Given the description of an element on the screen output the (x, y) to click on. 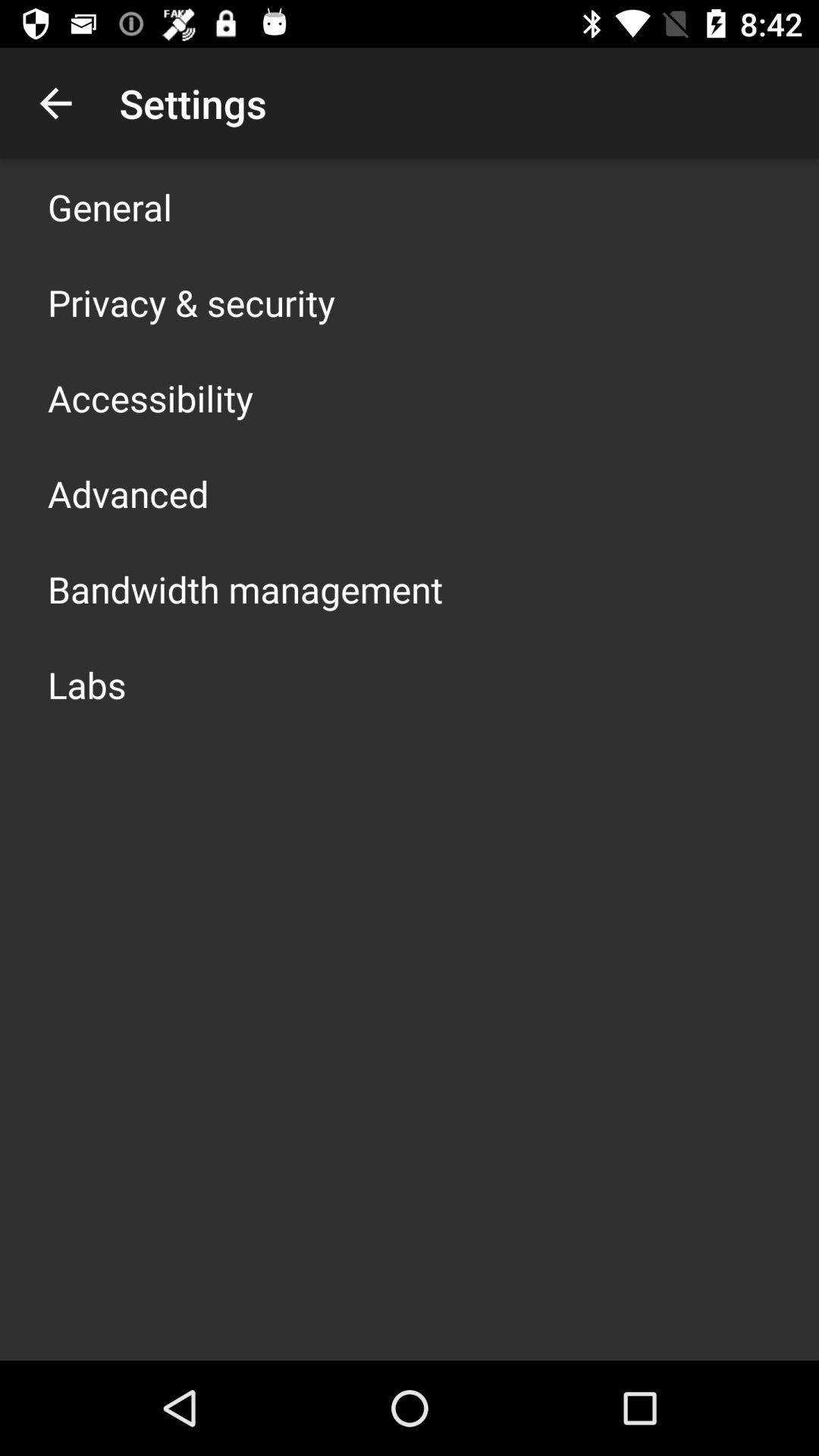
press the privacy & security item (190, 302)
